Given the description of an element on the screen output the (x, y) to click on. 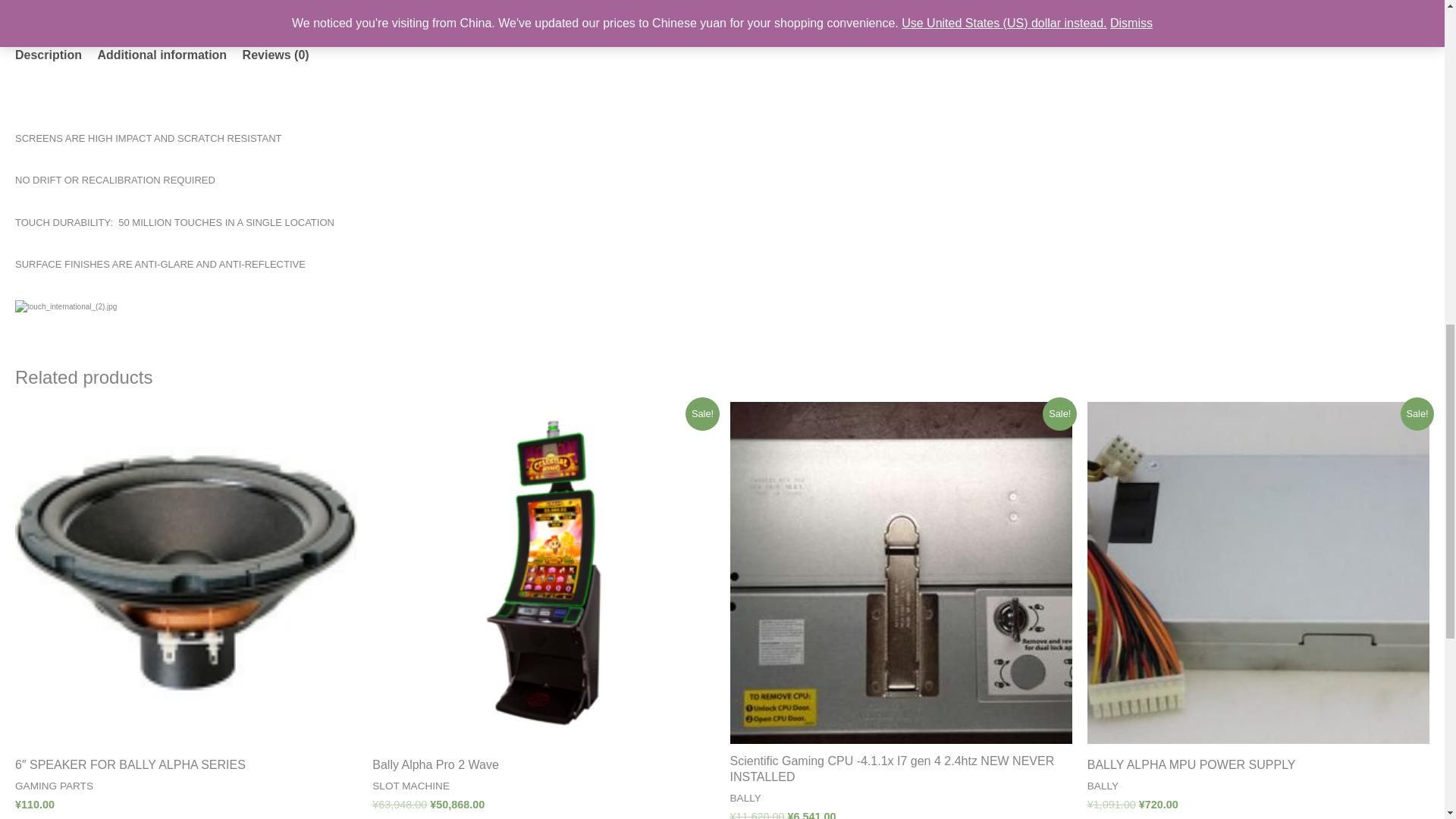
Bally Alpha Pro 2 Wave (543, 768)
Description (47, 54)
BALLY ALPHA MPU POWER SUPPLY (1258, 768)
Additional information (162, 54)
